Given the description of an element on the screen output the (x, y) to click on. 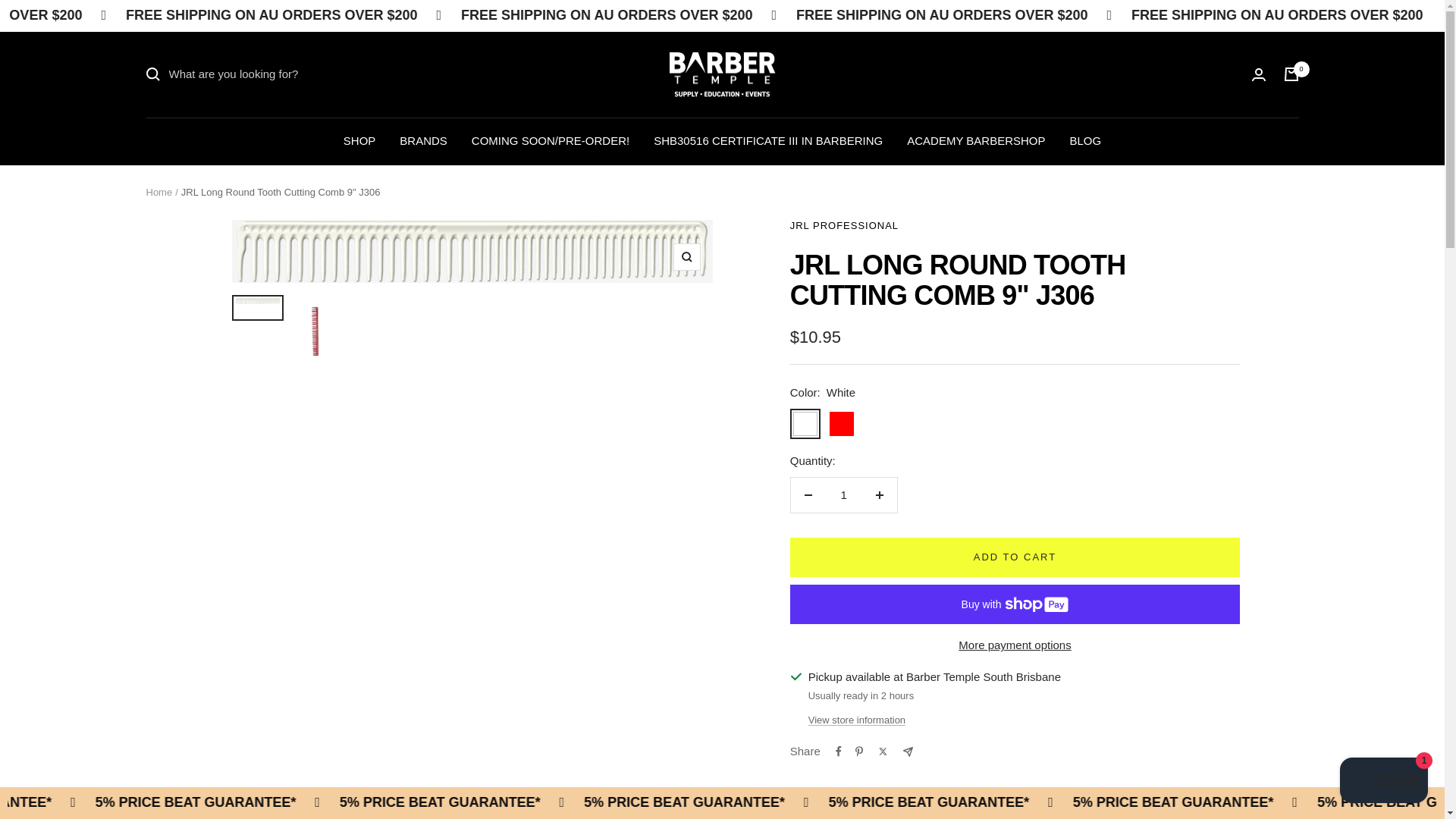
Zoom (686, 257)
Decrease quantity (807, 494)
More payment options (1015, 645)
Shopify online store chat (1383, 781)
SHOP (359, 140)
SHB30516 CERTIFICATE III IN BARBERING (767, 140)
View store information (856, 720)
BLOG (1084, 140)
Barber Temple (721, 74)
ACADEMY BARBERSHOP (976, 140)
Increase quantity (878, 494)
ADD TO CART (1015, 557)
JRL PROFESSIONAL (844, 225)
1 (843, 494)
